Given the description of an element on the screen output the (x, y) to click on. 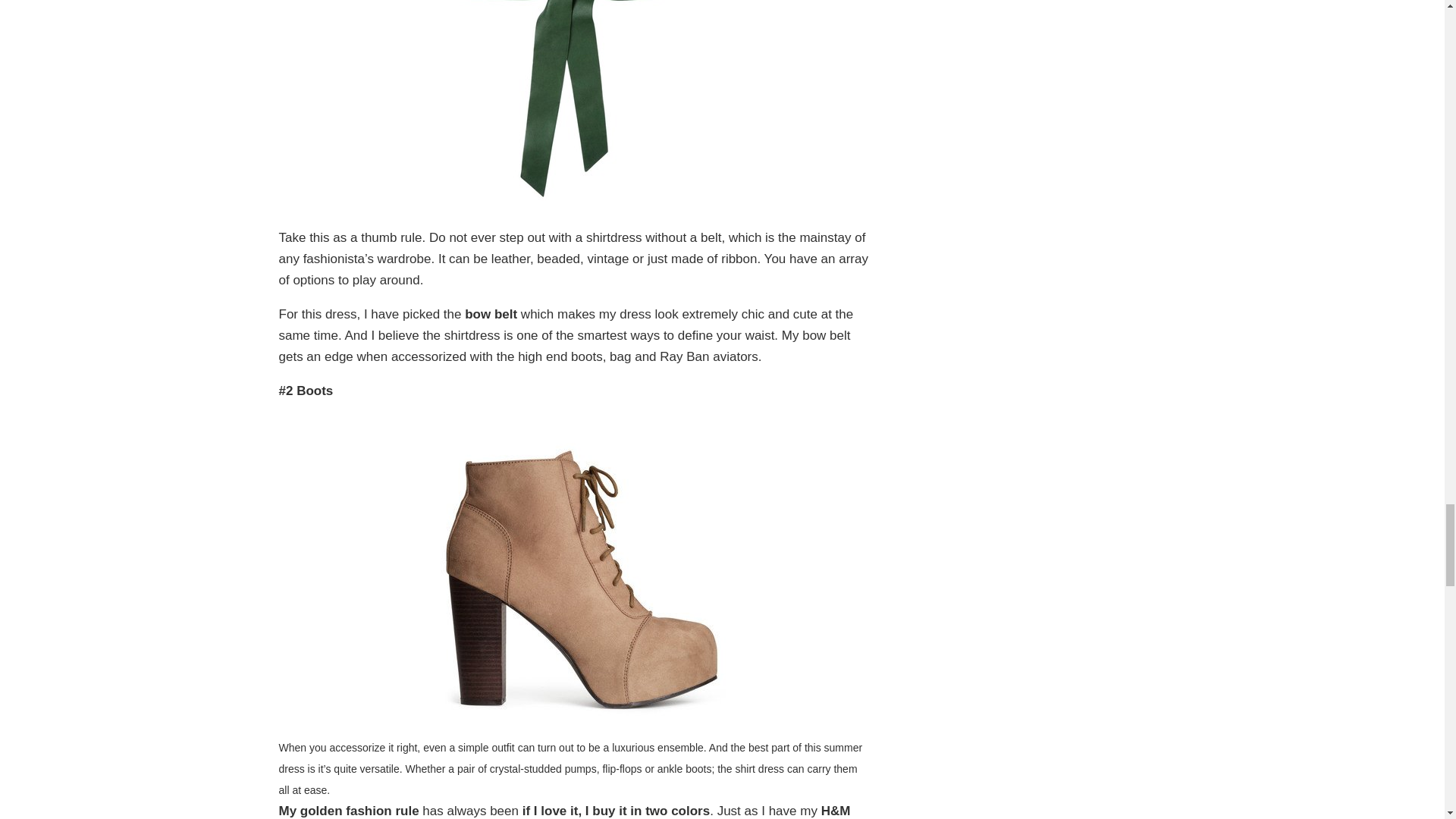
Ermanno Scervino Belt (573, 106)
